Given the description of an element on the screen output the (x, y) to click on. 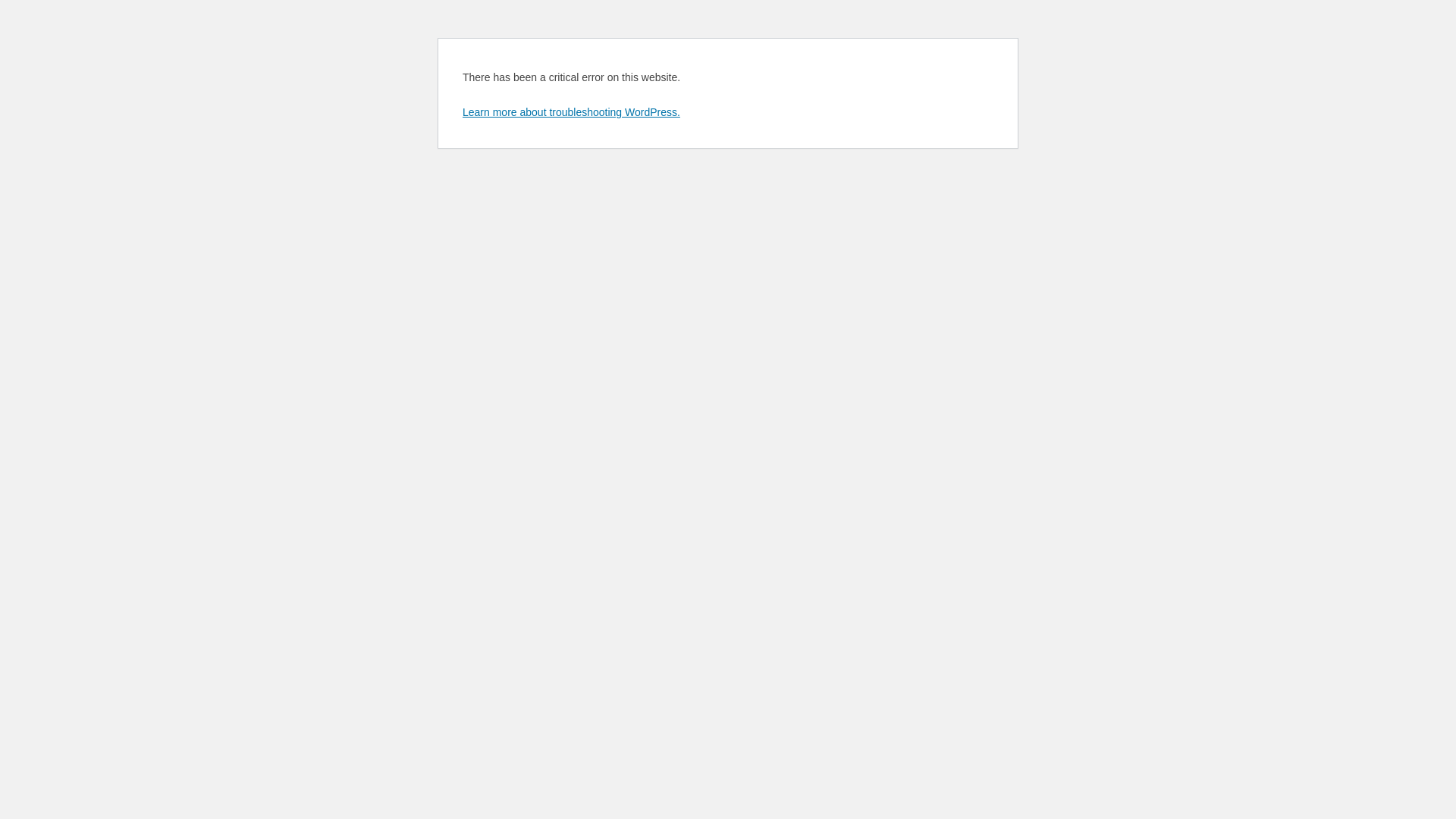
Learn more about troubleshooting WordPress. Element type: text (571, 112)
